Given the description of an element on the screen output the (x, y) to click on. 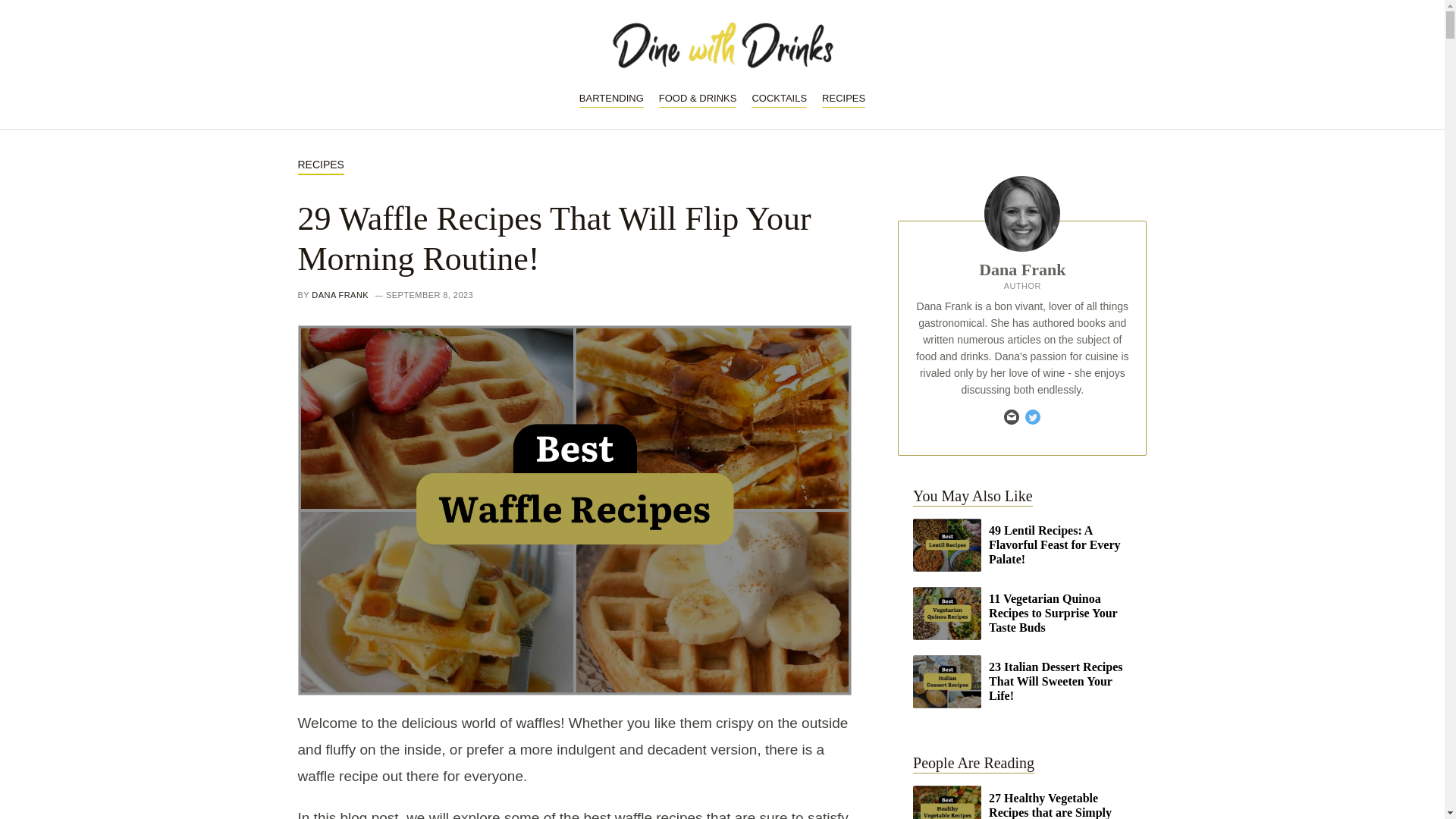
COCKTAILS (778, 98)
DANA FRANK (339, 294)
BARTENDING (611, 98)
RECIPES (843, 98)
RECIPES (320, 165)
